Given the description of an element on the screen output the (x, y) to click on. 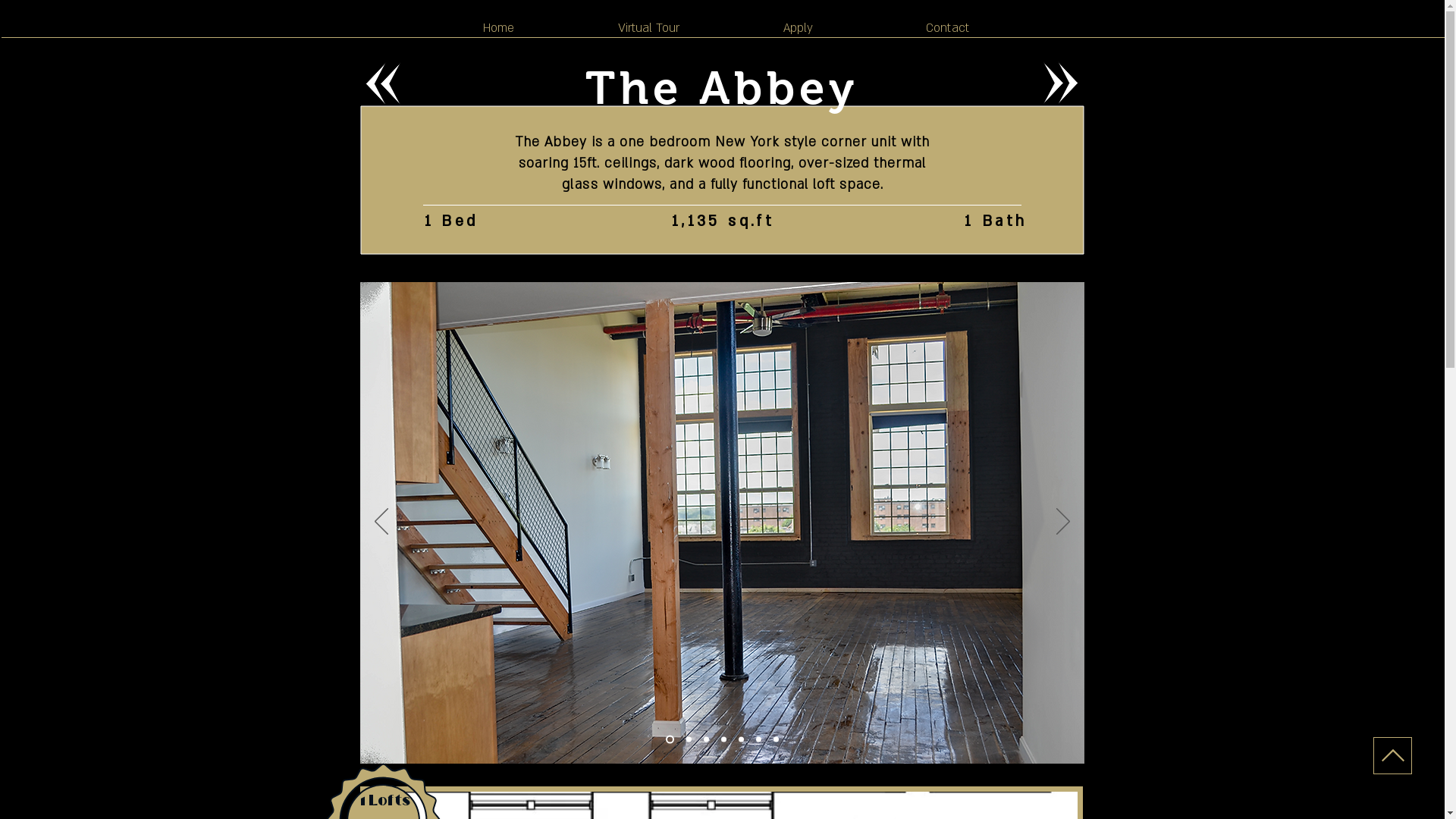
Home Element type: text (498, 28)
Virtual Tour Element type: text (647, 28)
Embedded Content Element type: hover (246, 245)
Apply Element type: text (797, 28)
Contact Element type: text (946, 28)
